Given the description of an element on the screen output the (x, y) to click on. 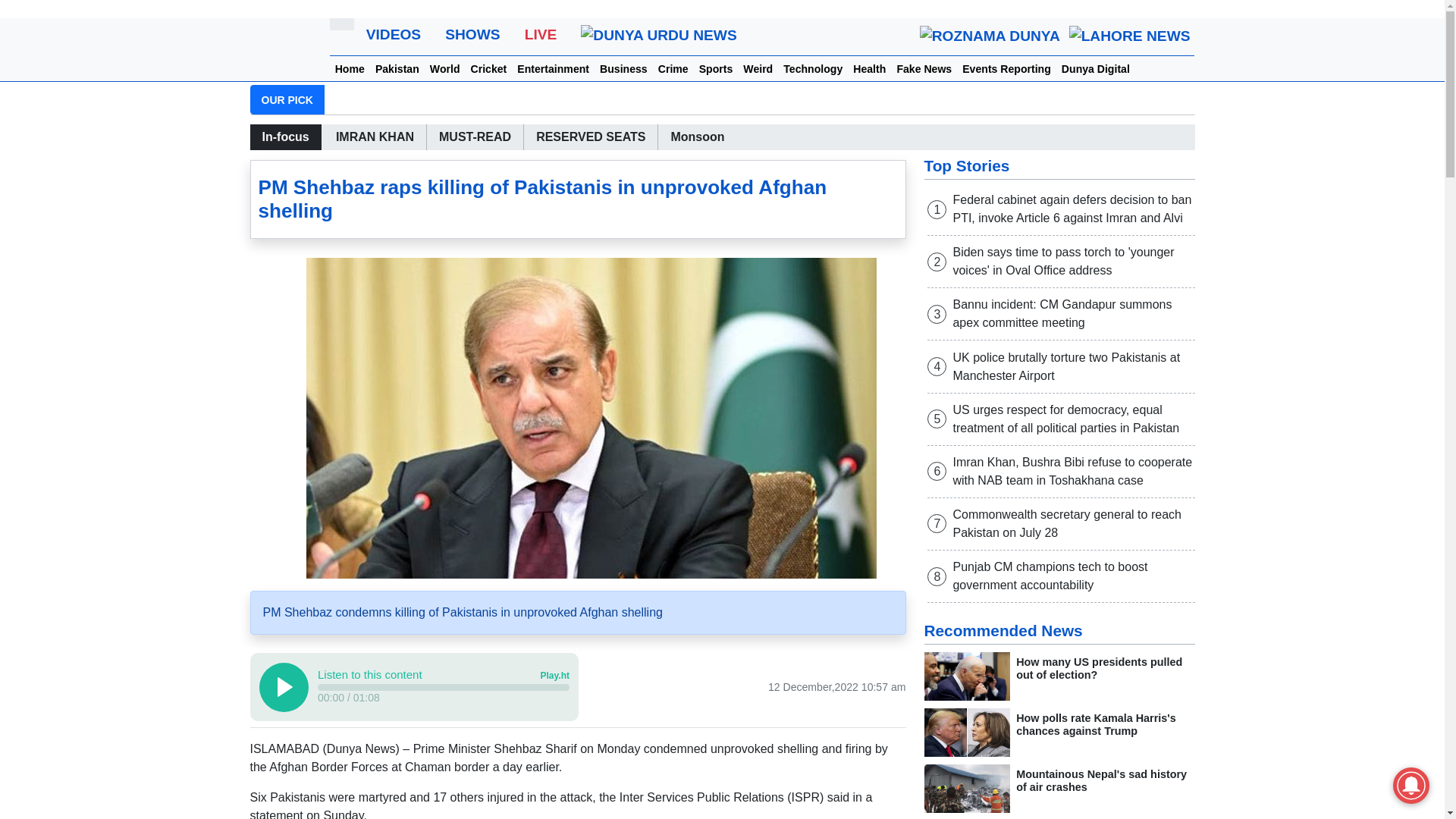
Weird (757, 69)
Fake News (923, 69)
Health (869, 69)
Technology (812, 69)
Business (623, 69)
Cricket (488, 69)
Sports (716, 69)
Pakistan (397, 69)
Home (349, 69)
Crime (673, 69)
Dunya Digital (1096, 69)
Events Reporting (1006, 69)
LIVE (540, 35)
World (445, 69)
Entertainment (553, 69)
